Given the description of an element on the screen output the (x, y) to click on. 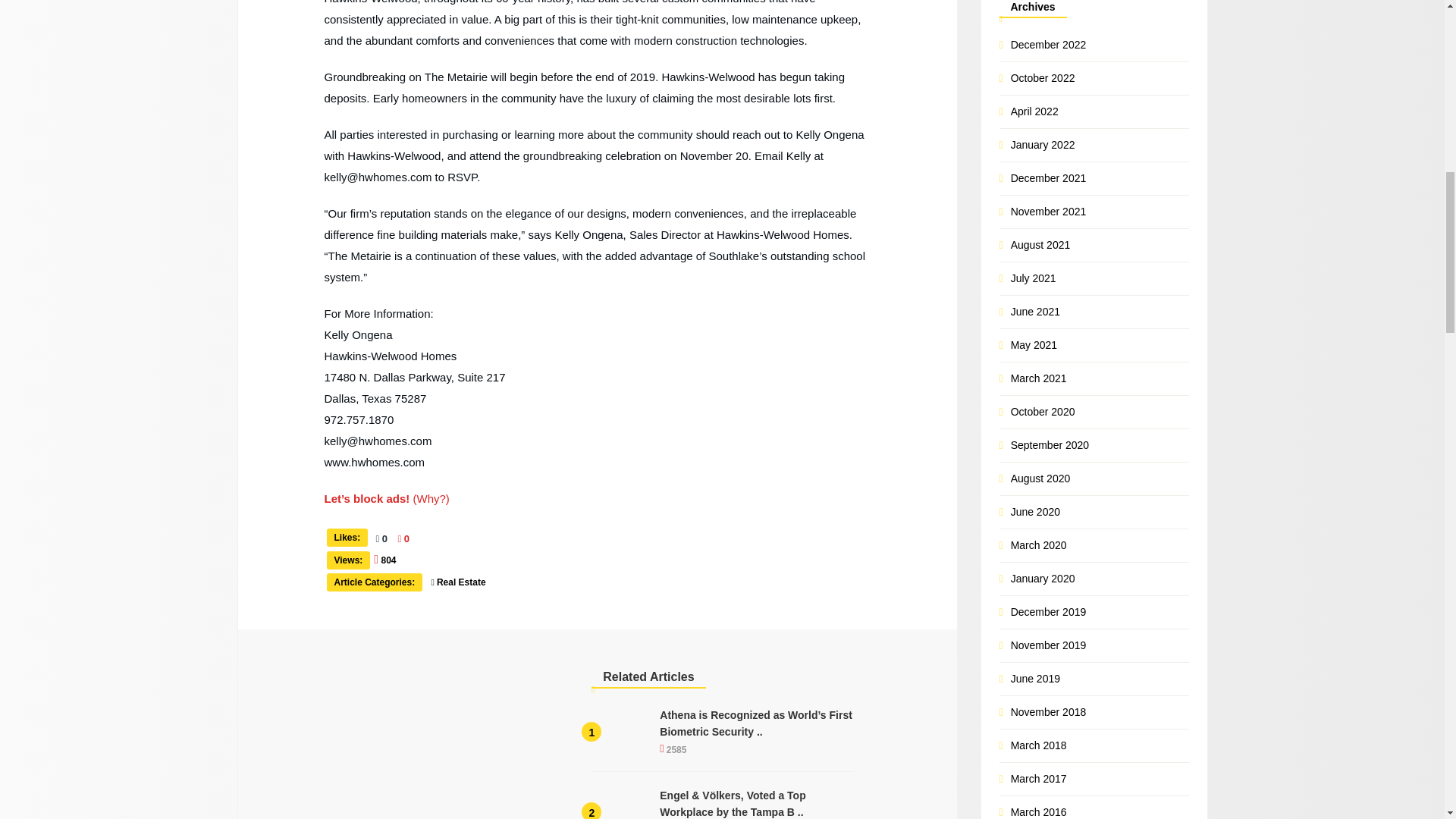
October 2022 (1042, 78)
December 2022 (1048, 44)
December 2021 (1048, 177)
November 2021 (1048, 211)
April 2022 (1034, 111)
January 2022 (1042, 144)
Real Estate (463, 582)
